Given the description of an element on the screen output the (x, y) to click on. 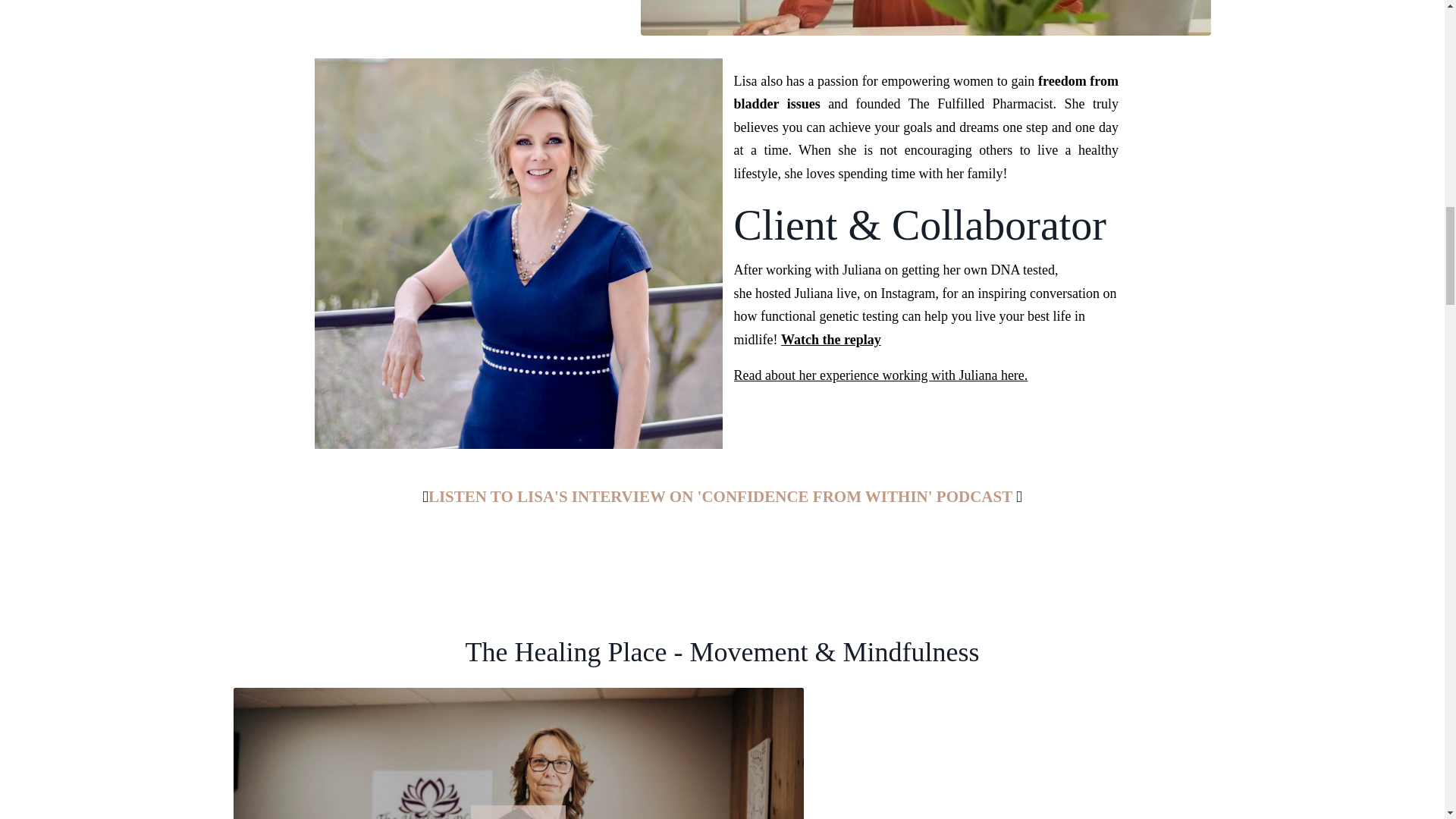
Watch the replay (830, 339)
Read about her experience working with Juliana here. (880, 375)
